Given the description of an element on the screen output the (x, y) to click on. 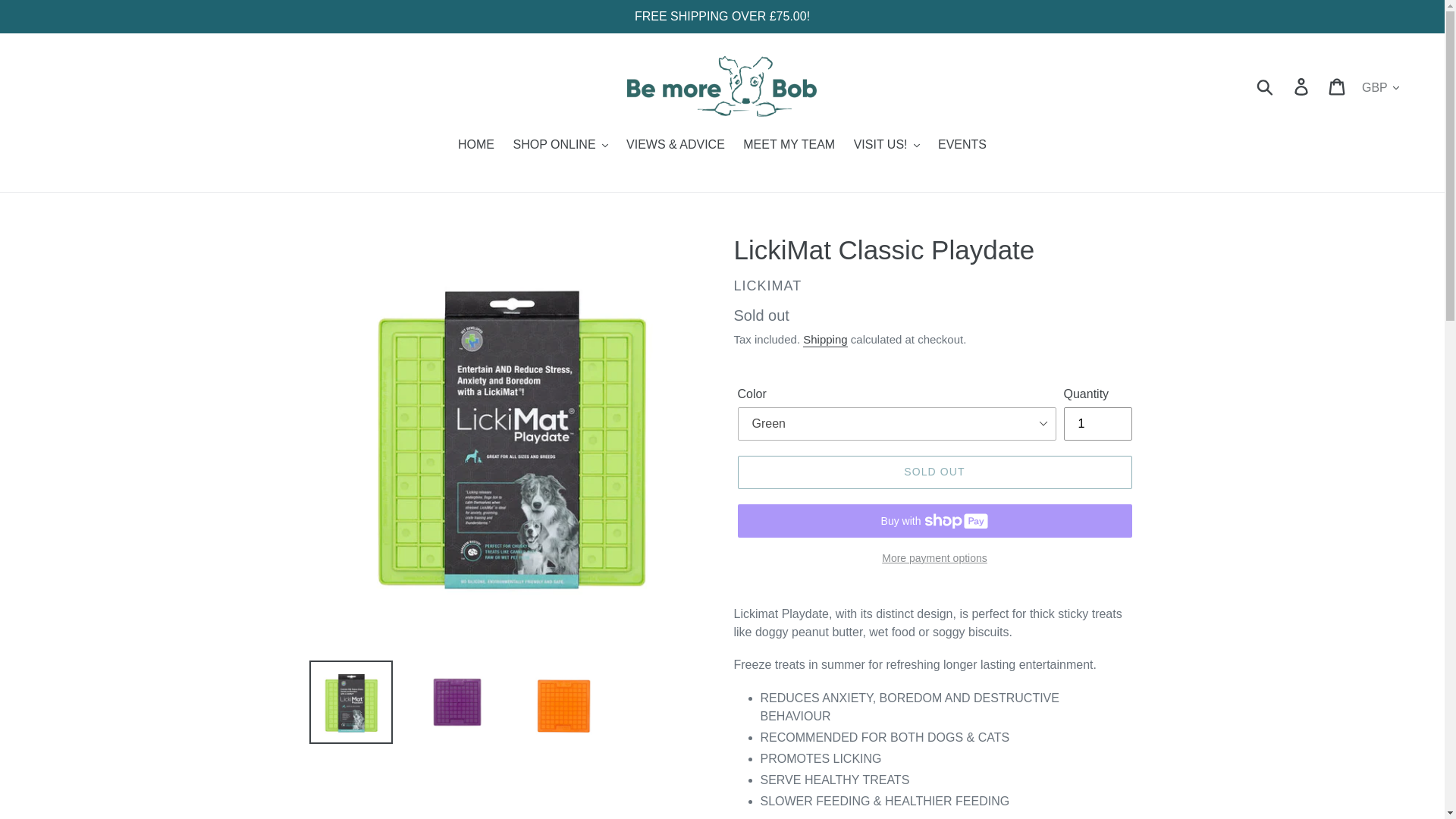
Submit (1265, 86)
Cart (1337, 86)
Log in (1302, 86)
1 (1096, 423)
